Given the description of an element on the screen output the (x, y) to click on. 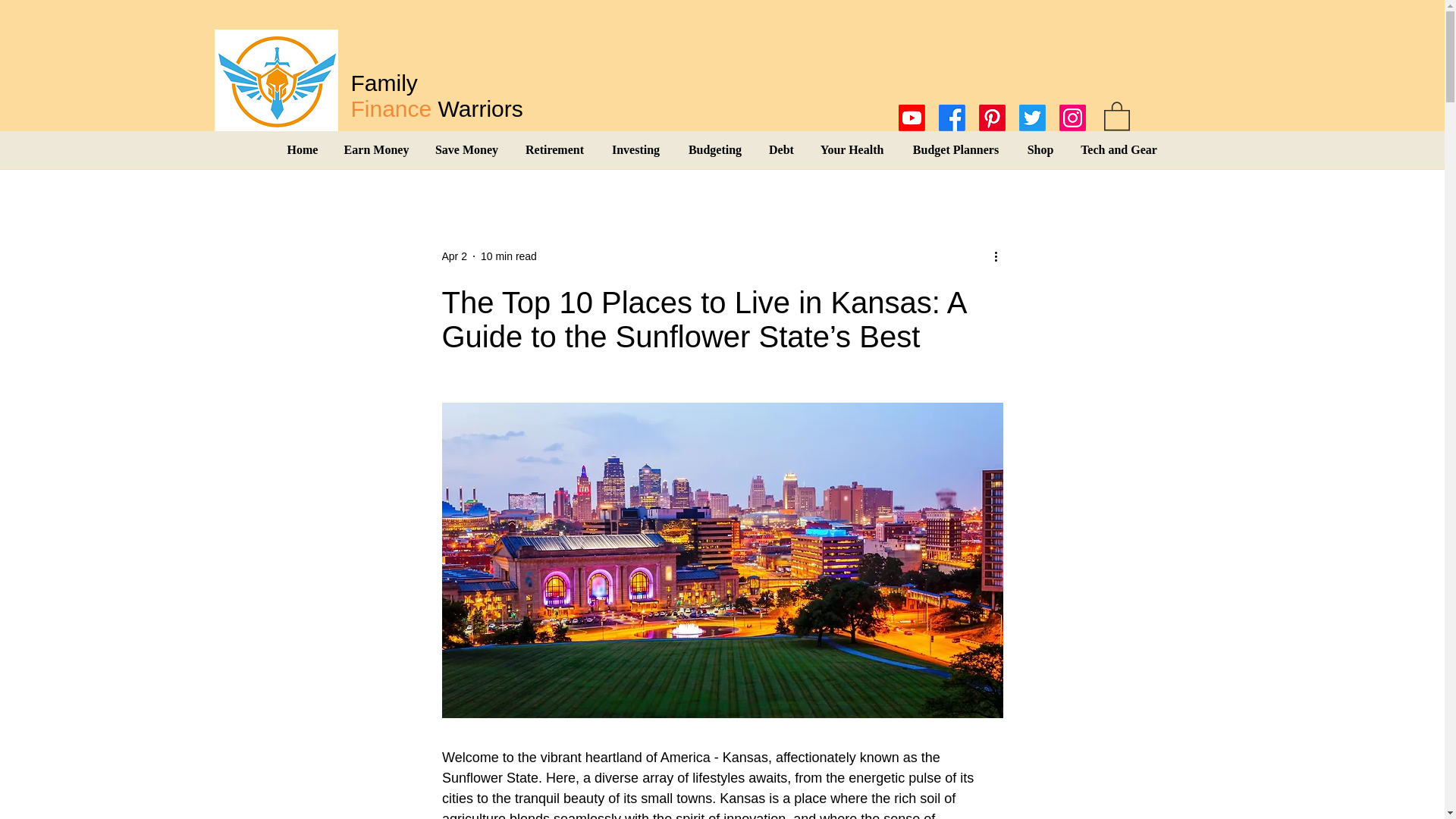
Apr 2 (453, 256)
Budget Planners (954, 149)
Investing (634, 149)
Save Money (466, 149)
Your Health (851, 149)
10 min read (508, 256)
Shop (436, 95)
Budgeting (1039, 149)
Tech and Gear (713, 149)
